Given the description of an element on the screen output the (x, y) to click on. 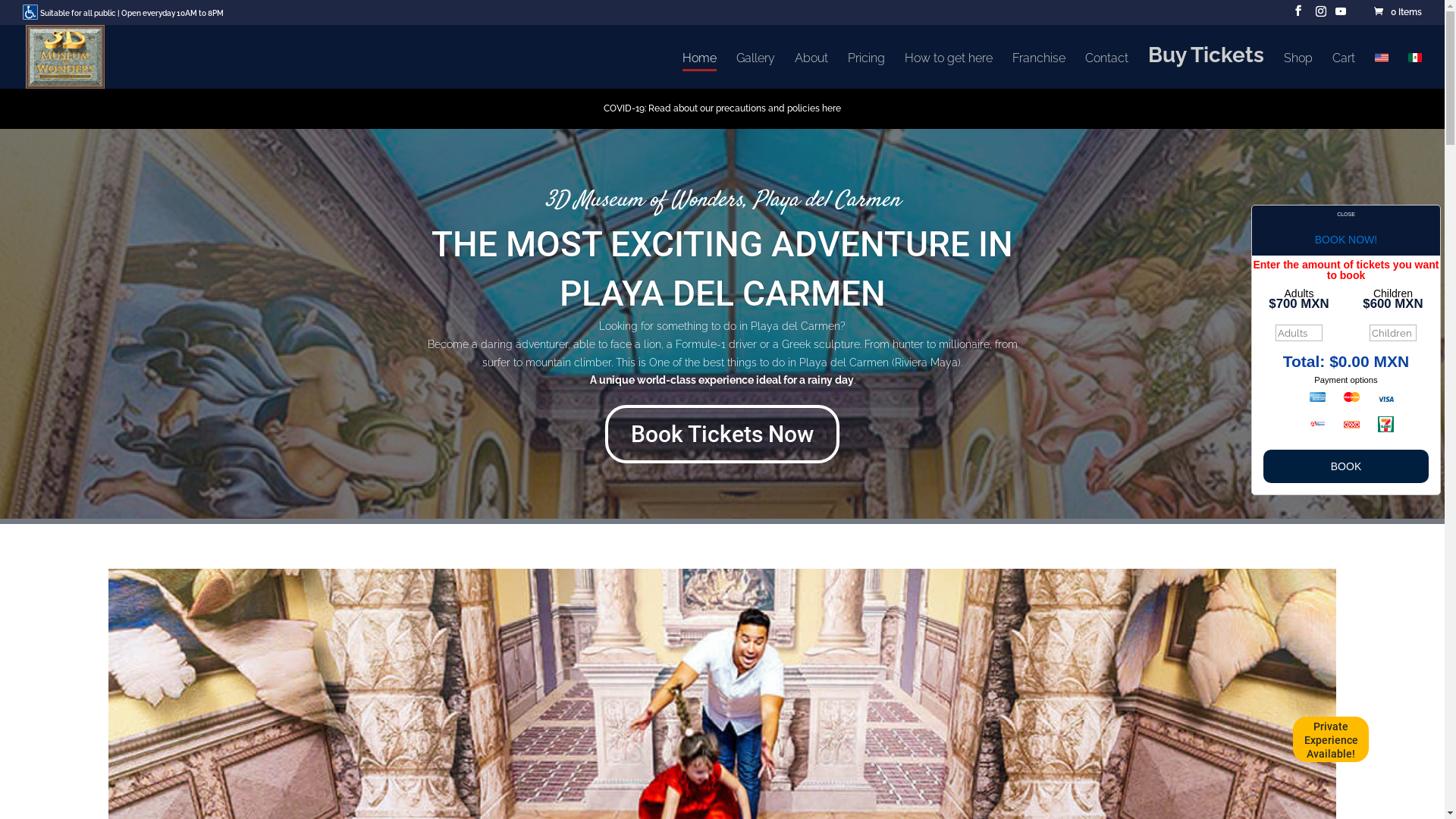
Pricing Element type: text (865, 70)
English Element type: hover (1381, 57)
Cart Element type: text (1343, 70)
How to get here Element type: text (948, 70)
BOOK Element type: text (1345, 466)
Home Element type: text (699, 70)
Book Tickets Now Element type: text (722, 433)
0 Items Element type: text (1396, 11)
Shop Element type: text (1297, 70)
Gallery Element type: text (755, 70)
Private Experience Available! Element type: text (1330, 743)
Franchise Element type: text (1038, 70)
Contact Element type: text (1106, 70)
CLOSE Element type: text (1346, 214)
About Element type: text (811, 70)
Buy Tickets Element type: text (1206, 67)
